Given the description of an element on the screen output the (x, y) to click on. 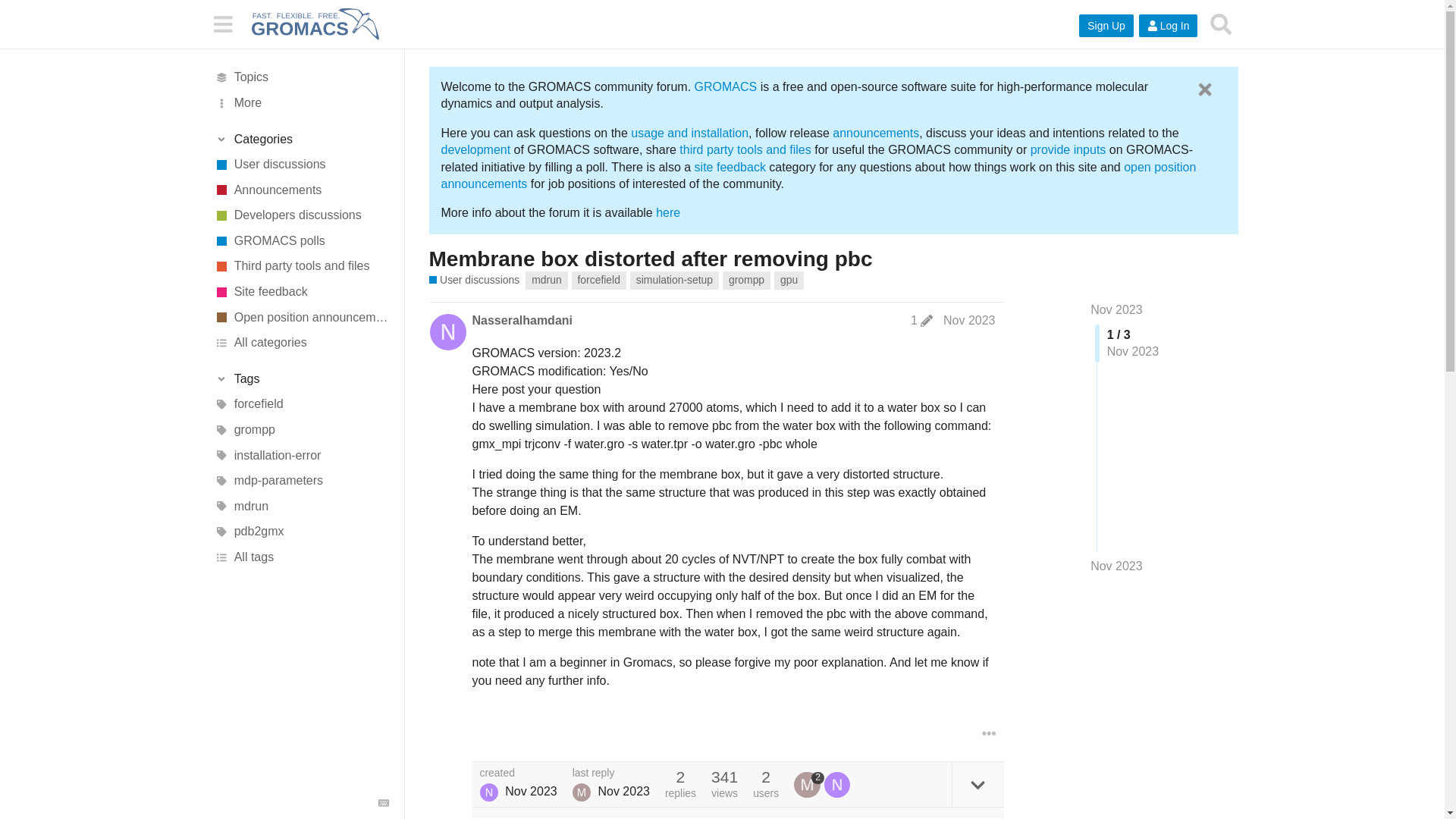
Tags (301, 379)
All topics (301, 77)
Membrane box distorted after removing pbc (650, 259)
Announcements (301, 190)
Developers discussions (301, 216)
User discussions (474, 279)
forcefield (301, 404)
pdb2gmx (301, 532)
open position announcements (818, 175)
development (476, 149)
Topics (301, 77)
mdp-parameters (301, 481)
provide inputs (1068, 149)
Categories (301, 139)
Toggle section (301, 139)
